Given the description of an element on the screen output the (x, y) to click on. 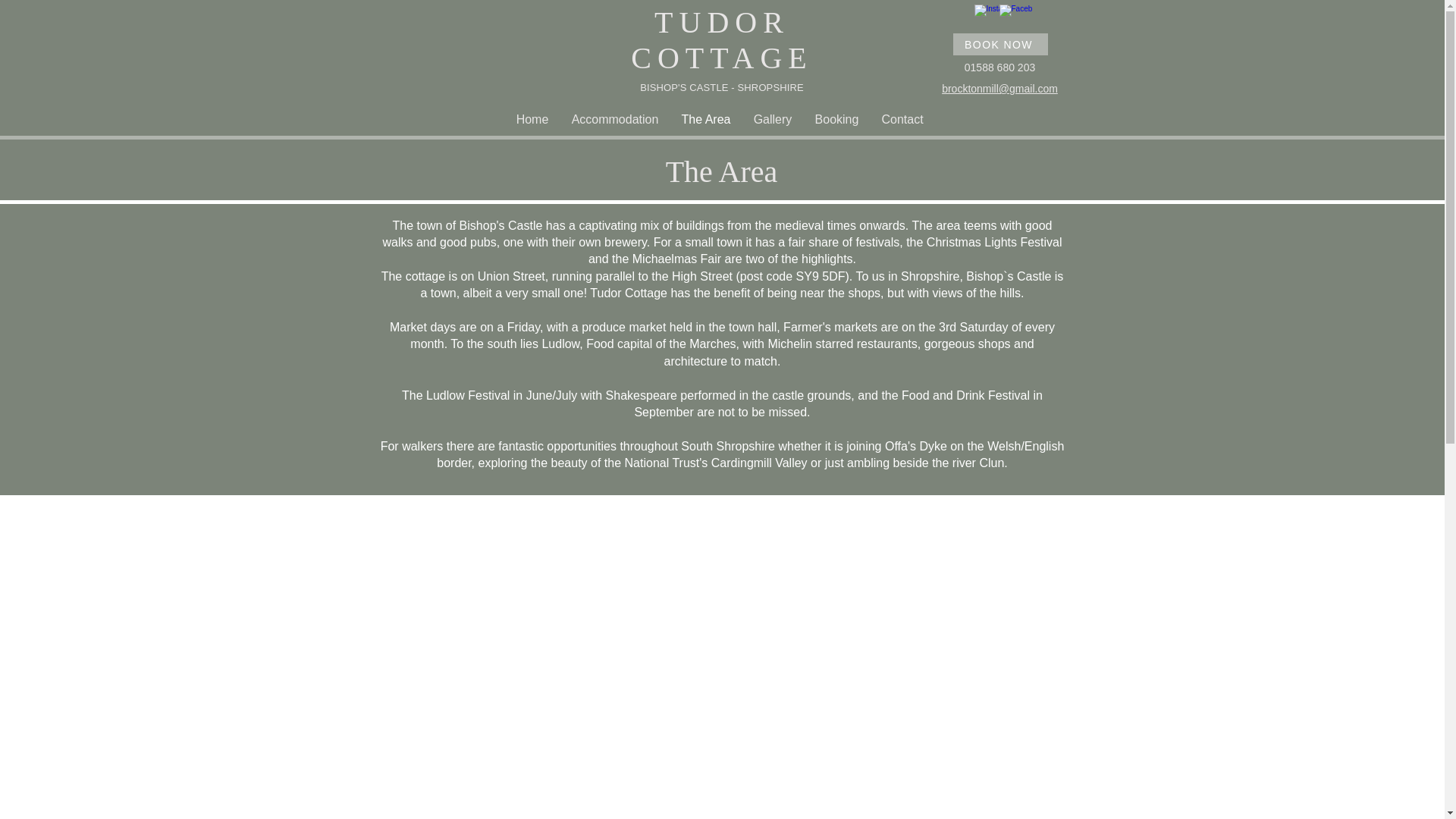
Gallery (772, 119)
The Area (705, 119)
Booking (836, 119)
Contact (902, 119)
Accommodation (614, 119)
01588 680 203 (999, 67)
Home (532, 119)
BOOK NOW (999, 44)
